Given the description of an element on the screen output the (x, y) to click on. 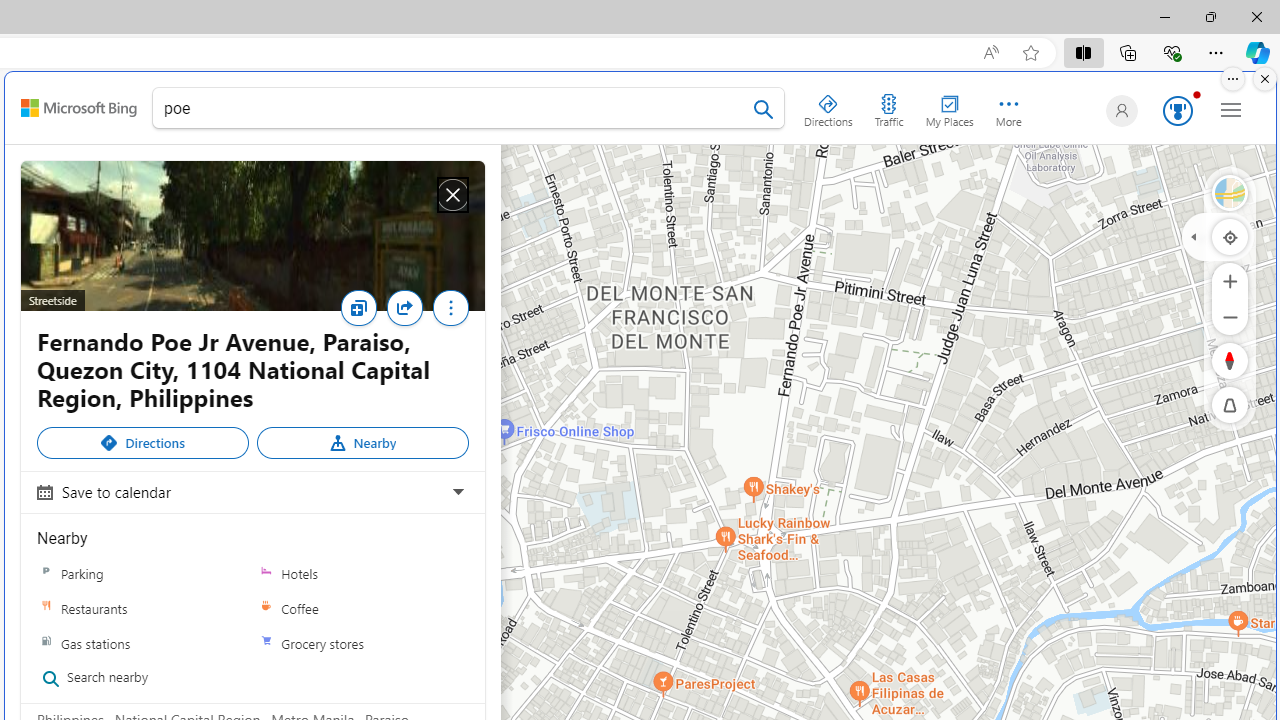
Rotate Right (1210, 360)
Minimize (1164, 16)
Locate me (1230, 236)
Zoom In (1230, 280)
Directions (143, 442)
Reset to Default Pitch (1230, 405)
Coffee (362, 608)
Search nearby (136, 678)
Nearby (362, 442)
Split screen (1083, 52)
Animation (1196, 94)
Restore (1210, 16)
Save (358, 308)
Add this page to favorites (Ctrl+D) (1030, 53)
Class: sbElement (79, 107)
